Given the description of an element on the screen output the (x, y) to click on. 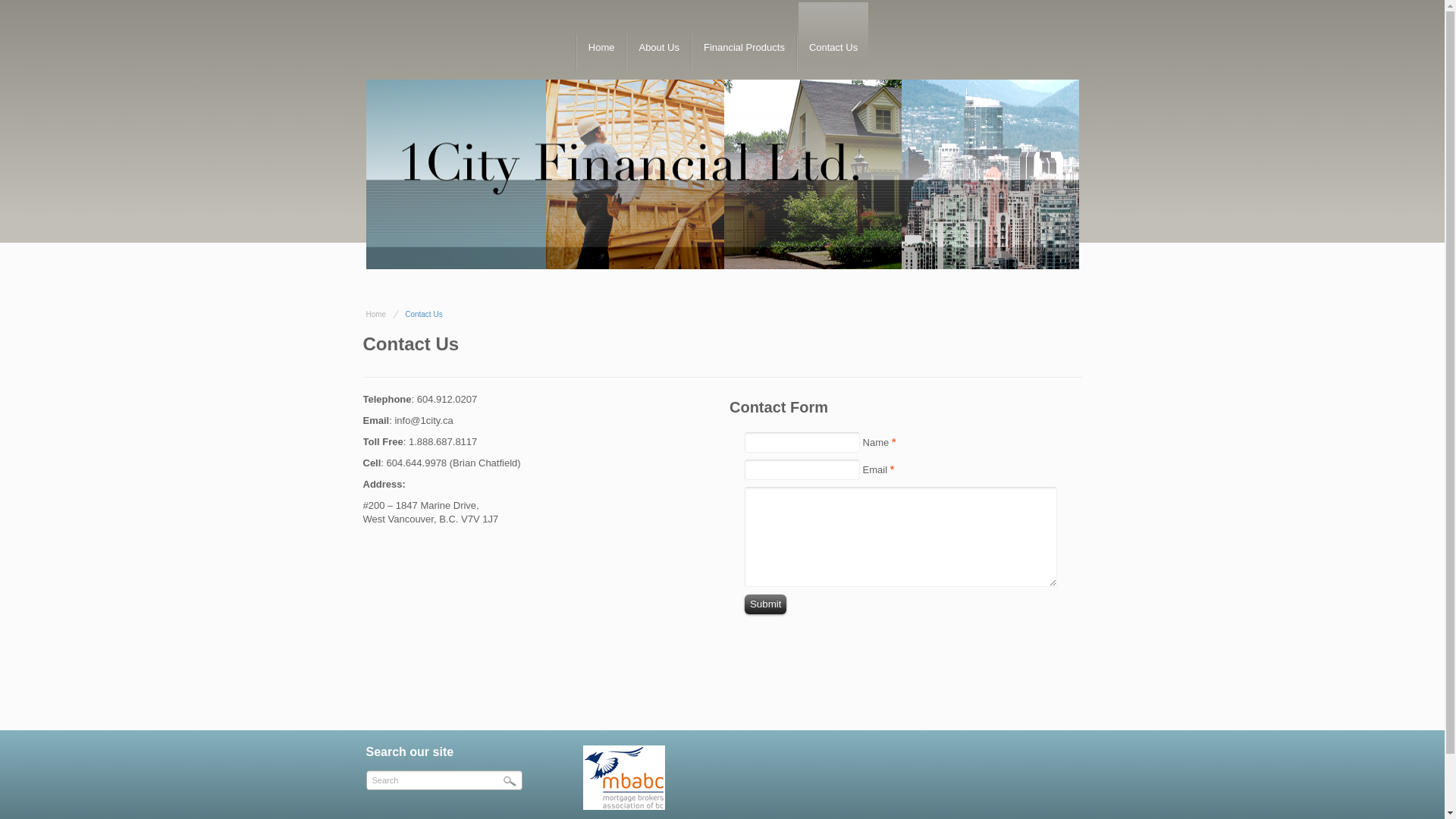
Submit Element type: text (765, 604)
About Us Element type: text (658, 47)
Contact Us Element type: text (833, 47)
MBABC2008 Final Logo_vertical Element type: hover (624, 777)
Home Element type: text (375, 314)
Home Element type: text (601, 47)
Financial Products Element type: text (743, 47)
